Given the description of an element on the screen output the (x, y) to click on. 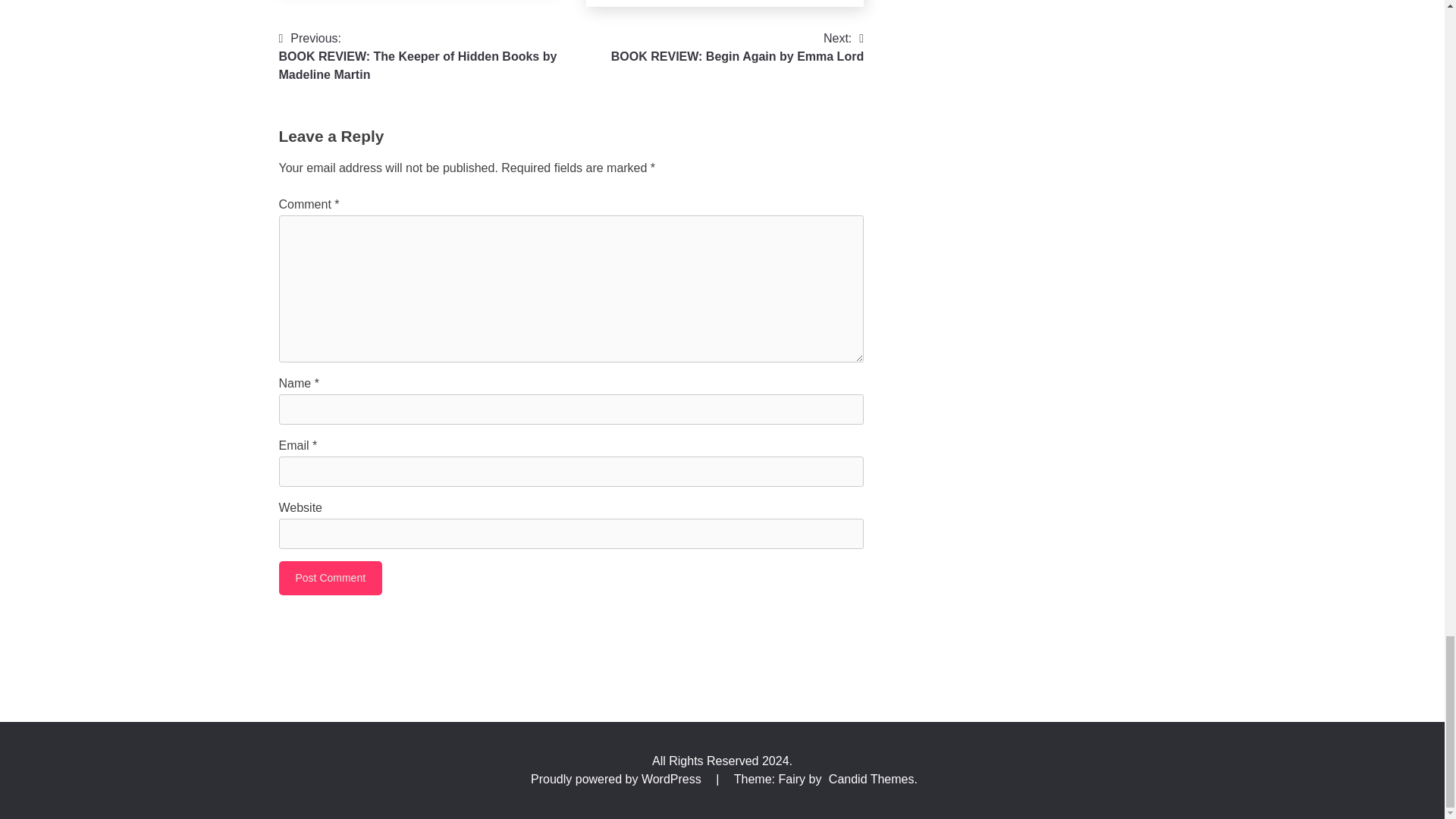
Post Comment (330, 578)
